Given the description of an element on the screen output the (x, y) to click on. 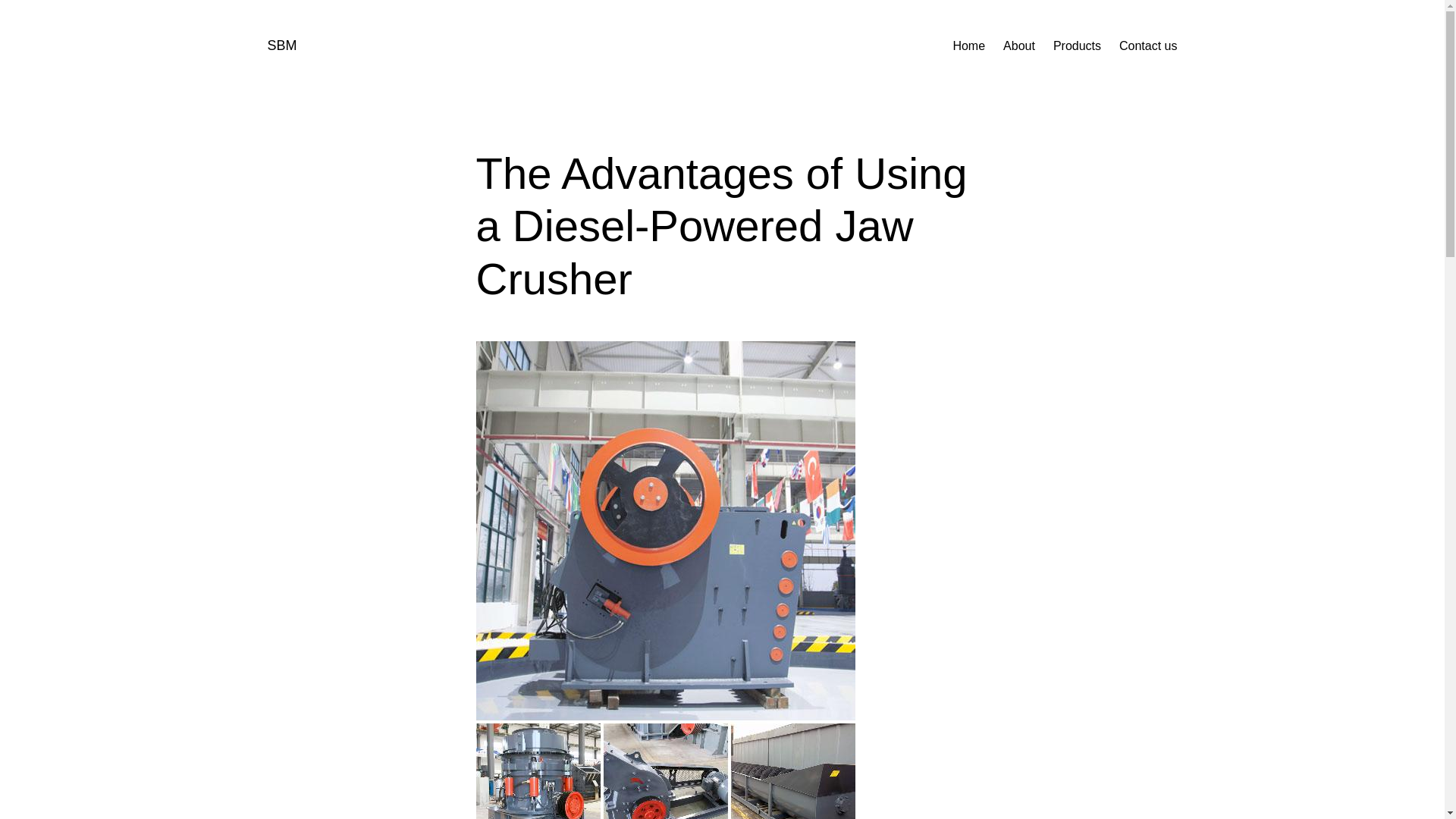
Products (1076, 46)
About (1019, 46)
Home (968, 46)
SBM (281, 45)
Contact us (1147, 46)
